Given the description of an element on the screen output the (x, y) to click on. 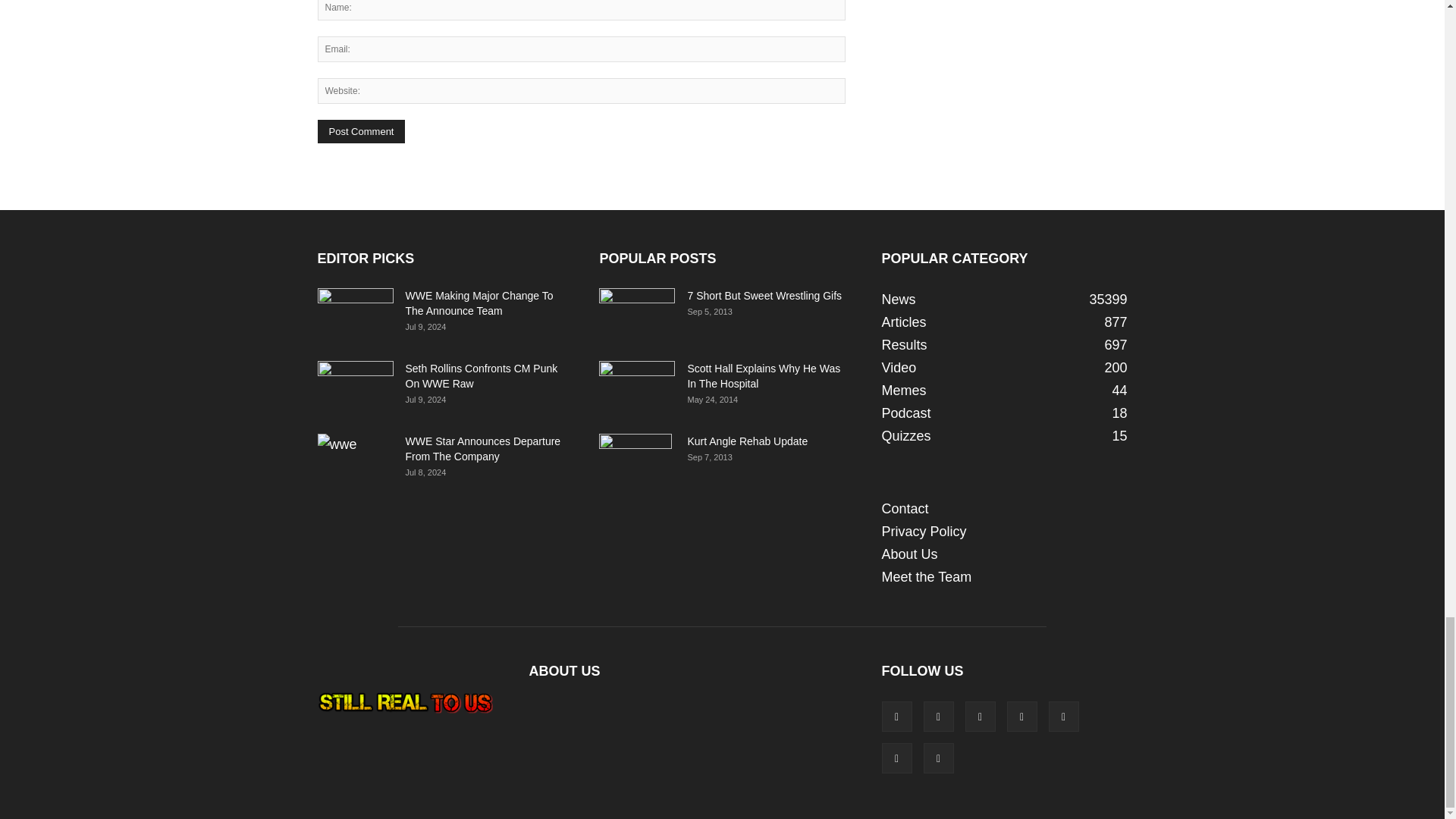
Post Comment (360, 131)
